Given the description of an element on the screen output the (x, y) to click on. 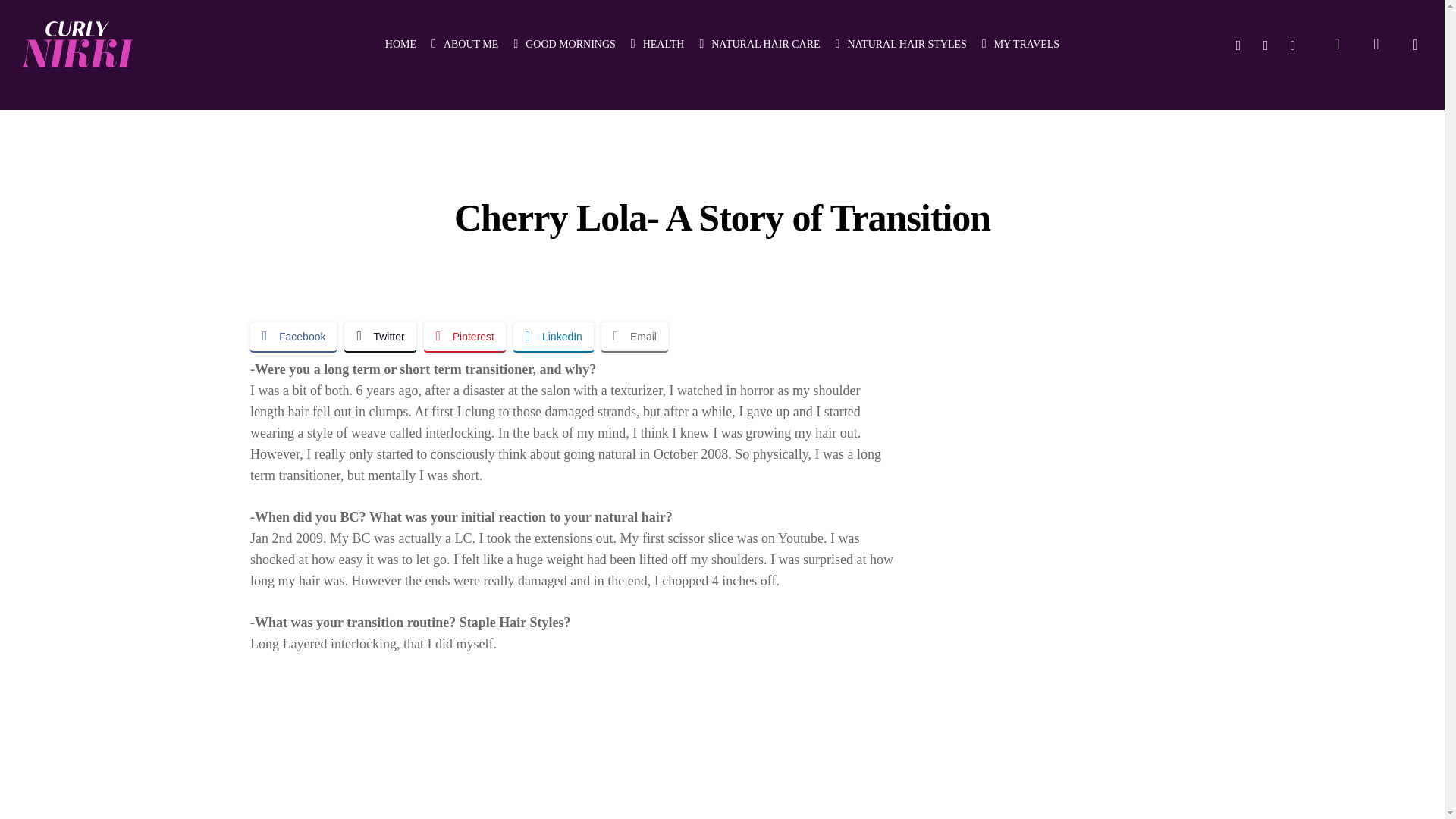
HOME (400, 44)
GOOD MORNINGS (563, 44)
HEALTH (657, 44)
ABOUT ME (463, 44)
NATURAL HAIR CARE (758, 44)
NATURAL HAIR STYLES (900, 44)
